Given the description of an element on the screen output the (x, y) to click on. 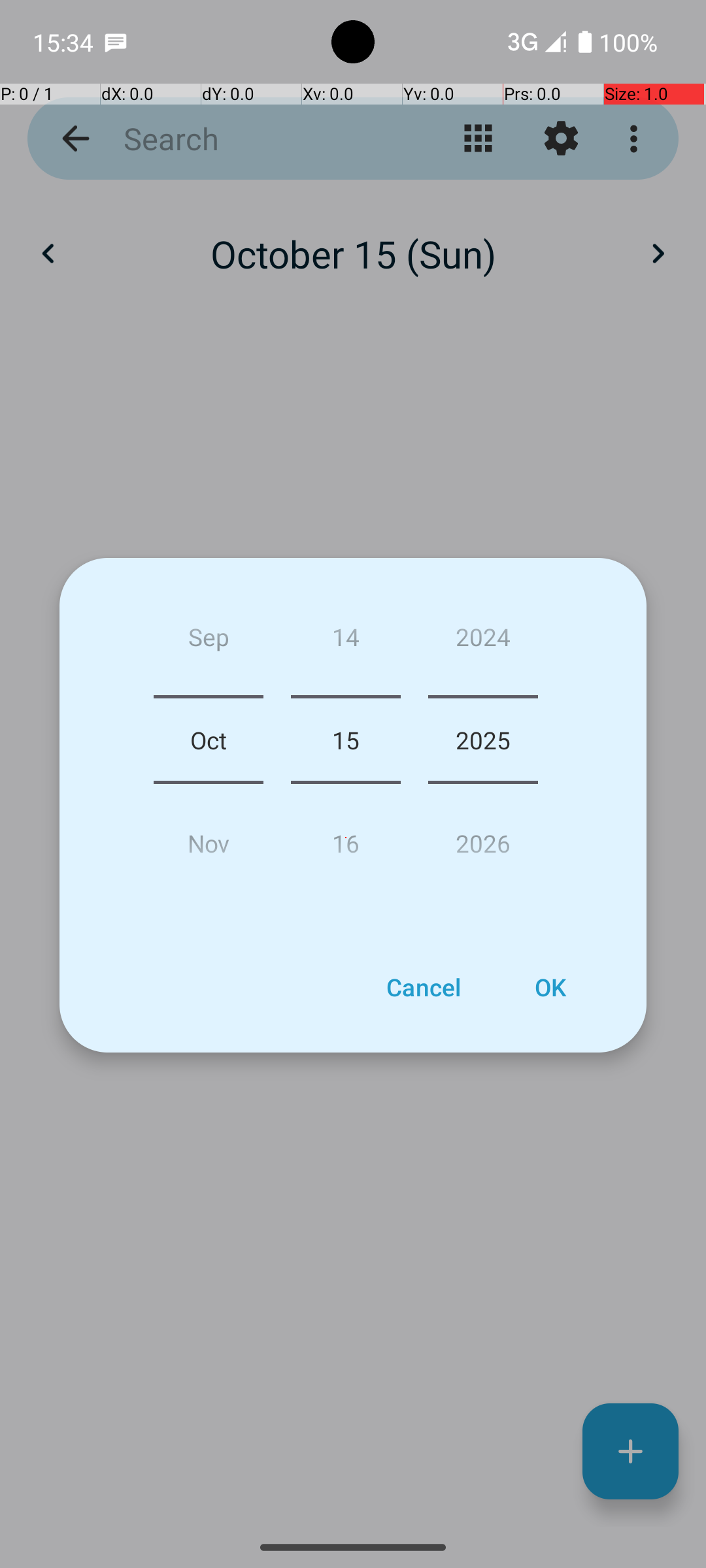
Sep Element type: android.widget.Button (208, 641)
Oct Element type: android.widget.EditText (208, 739)
Nov Element type: android.widget.Button (208, 837)
2024 Element type: android.widget.Button (482, 641)
2025 Element type: android.widget.EditText (482, 739)
2026 Element type: android.widget.Button (482, 837)
